Given the description of an element on the screen output the (x, y) to click on. 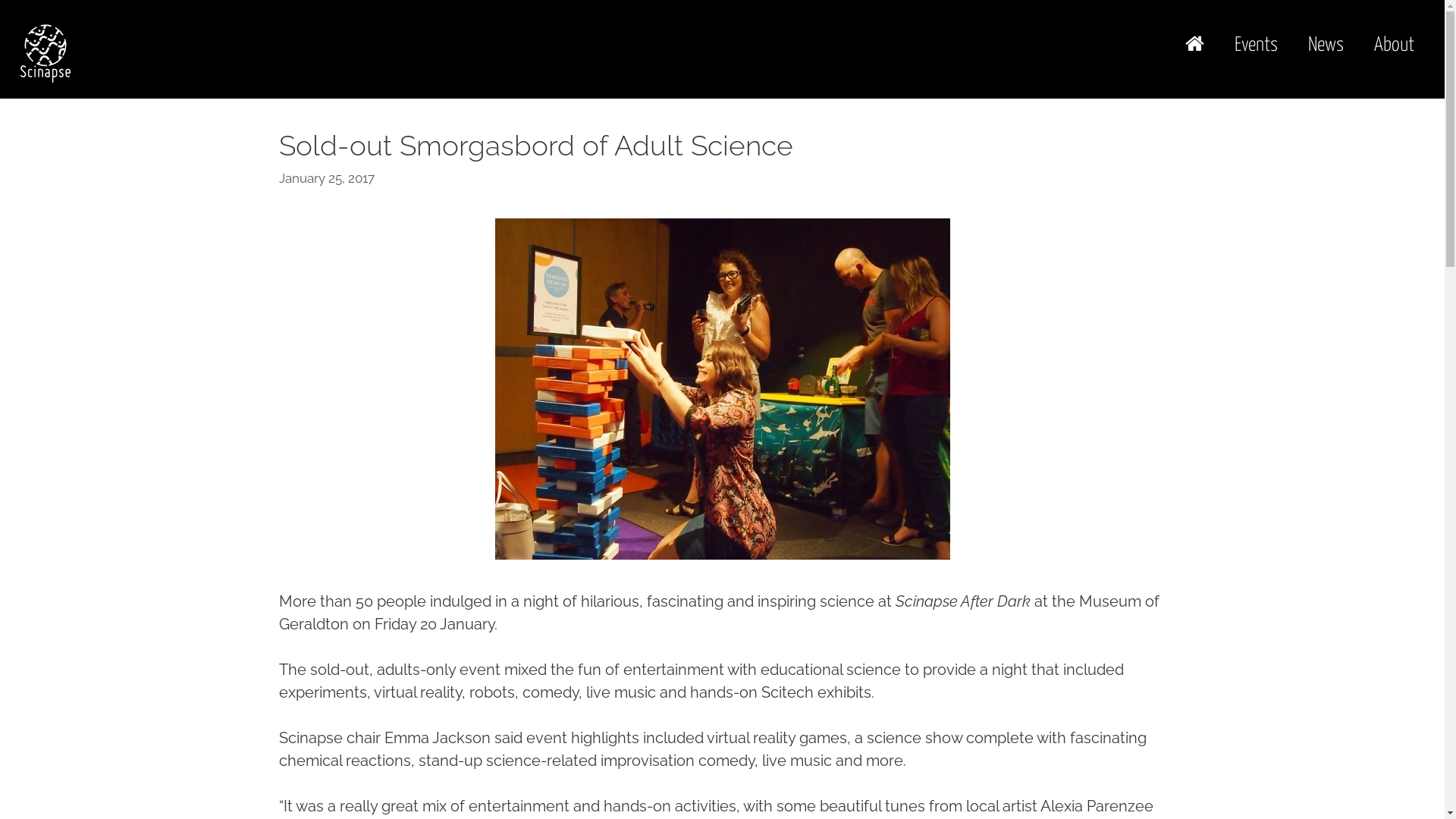
About Element type: text (1393, 45)
Scinapse Element type: hover (45, 51)
January 25, 2017 Element type: text (326, 177)
Events Element type: text (1255, 45)
Scinapse Element type: hover (45, 52)
Skip to content Element type: text (0, 0)
News Element type: text (1325, 45)
